Given the description of an element on the screen output the (x, y) to click on. 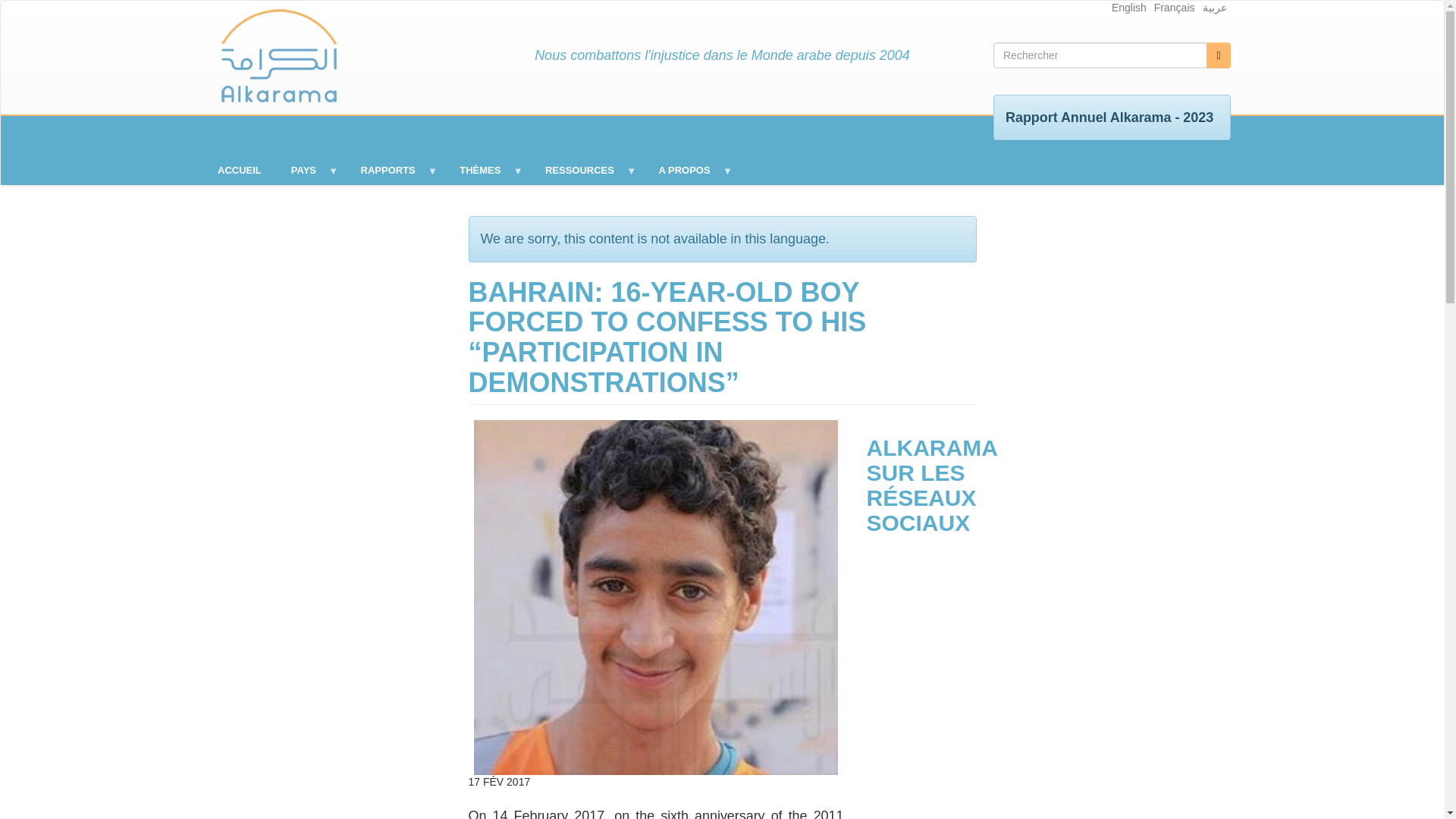
English (1129, 7)
Rapport Annuel Alkarama - 2023 (1109, 117)
Rechercher (1218, 54)
Accueil (277, 55)
ACCUEIL (239, 170)
Rapport Annuel Alkarama - 2023 (1109, 117)
